Given the description of an element on the screen output the (x, y) to click on. 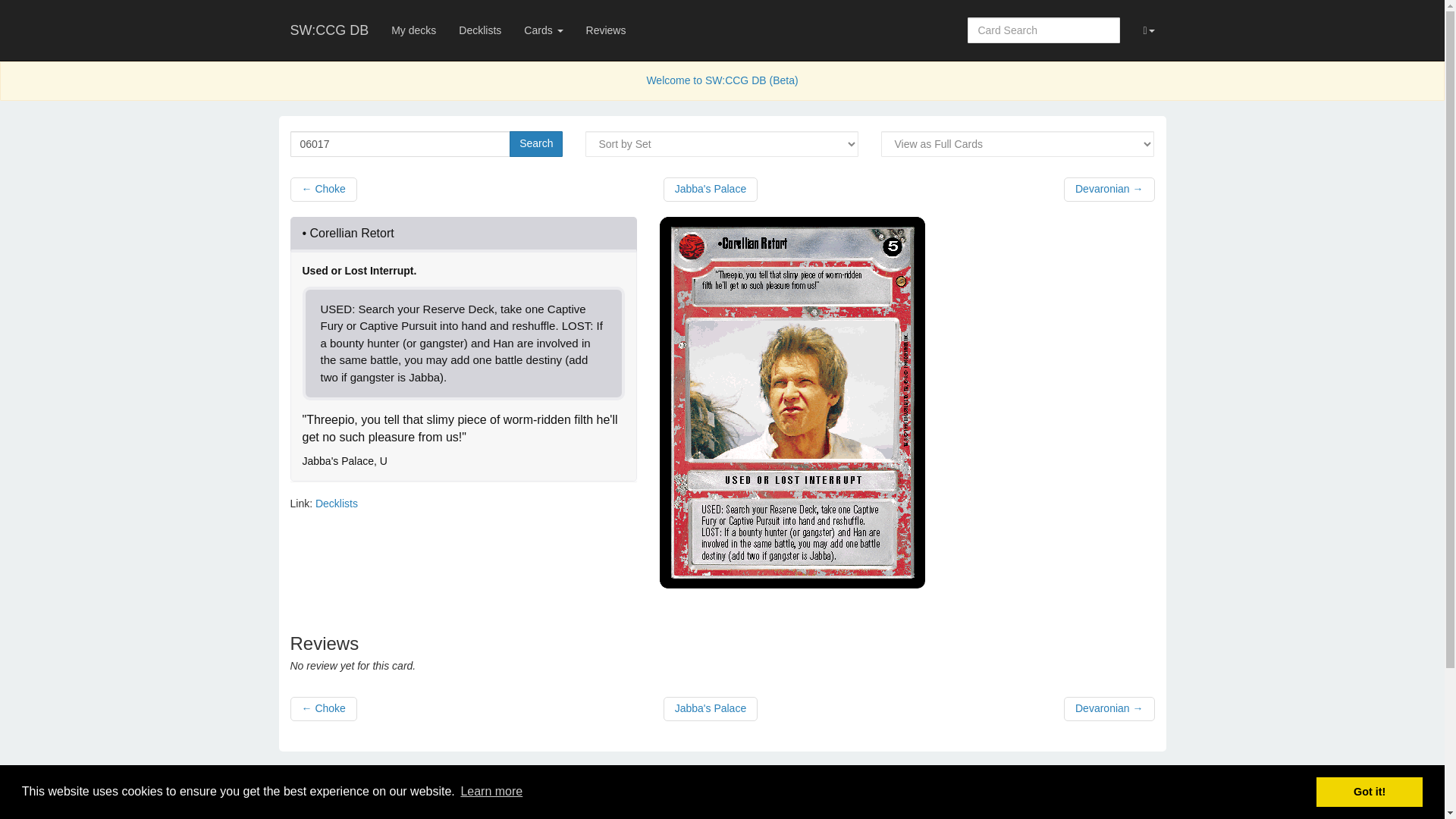
Decklists (479, 30)
06017 (400, 144)
Cards (542, 30)
SW:CCG DB (329, 30)
My decks (413, 30)
Jabba's Palace (710, 189)
Reviews (606, 30)
Got it! (1369, 791)
Learn more (491, 791)
Uncommon (383, 460)
Search (535, 144)
